Given the description of an element on the screen output the (x, y) to click on. 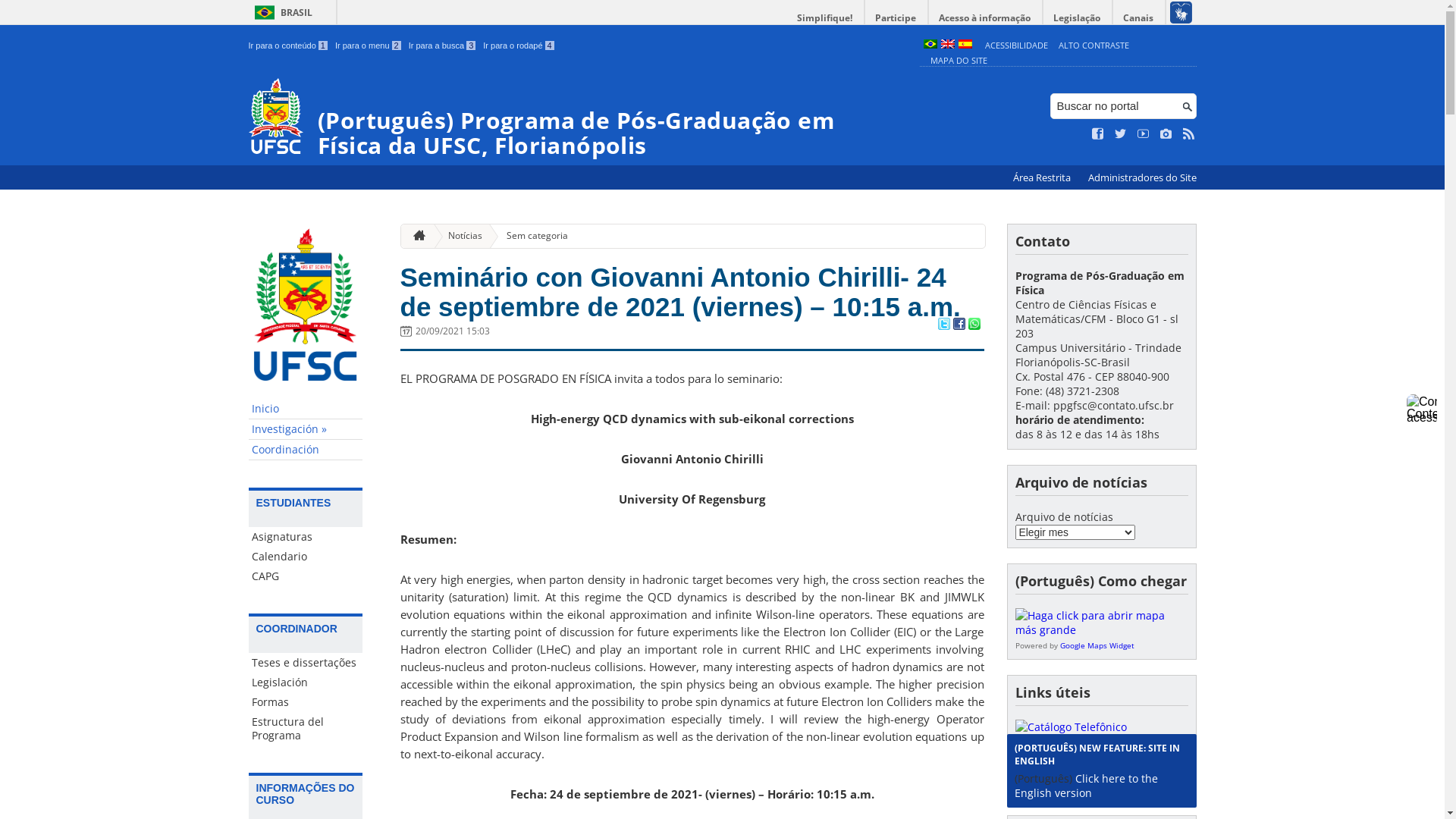
Google Maps Widget Element type: text (1097, 645)
BRASIL Element type: text (280, 12)
Compartilhar no WhatsApp Element type: hover (973, 324)
Simplifique! Element type: text (825, 18)
Canais Element type: text (1138, 18)
Ir para o menu 2 Element type: text (368, 45)
Compartilhar no Facebook Element type: hover (958, 324)
Sem categoria Element type: text (531, 235)
ACESSIBILIDADE Element type: text (1016, 44)
Ir para a busca 3 Element type: text (442, 45)
Formas Element type: text (305, 702)
Veja no Instagram Element type: hover (1166, 134)
English (en) Element type: hover (946, 44)
Curta no Facebook Element type: hover (1098, 134)
Inicio Element type: text (305, 408)
Click here to the English version Element type: text (1085, 785)
Participe Element type: text (895, 18)
CAPG Element type: text (305, 576)
Calendario Element type: text (305, 556)
MAPA DO SITE Element type: text (957, 59)
Estructura del Programa Element type: text (305, 728)
Administradores do Site Element type: text (1141, 177)
ALTO CONTRASTE Element type: text (1093, 44)
Asignaturas Element type: text (305, 536)
Siga no Twitter Element type: hover (1120, 134)
Webmail da UFSC Element type: hover (1060, 784)
Compartilhar no Twitter Element type: hover (943, 324)
